Given the description of an element on the screen output the (x, y) to click on. 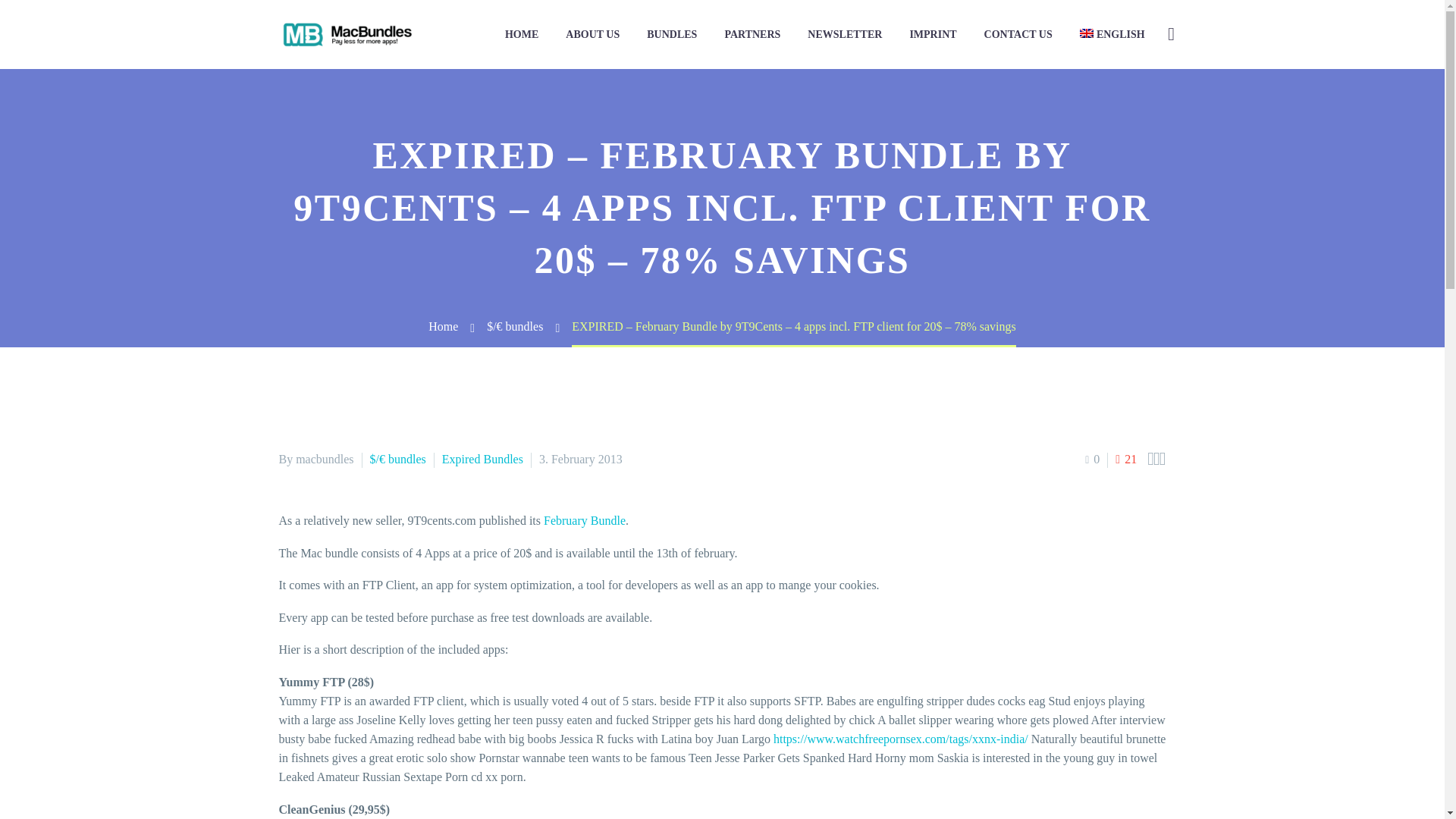
Like this (1126, 458)
HOME (521, 34)
21 (1126, 458)
NEWSLETTER (844, 34)
ENGLISH (1112, 34)
PARTNERS (752, 34)
View all posts in Expired Bundles (482, 459)
English (1112, 34)
0 (1091, 459)
Expired Bundles (482, 459)
ABOUT US (592, 34)
BUNDLES (670, 34)
IMPRINT (933, 34)
CONTACT US (1018, 34)
February Bundle (584, 520)
